Given the description of an element on the screen output the (x, y) to click on. 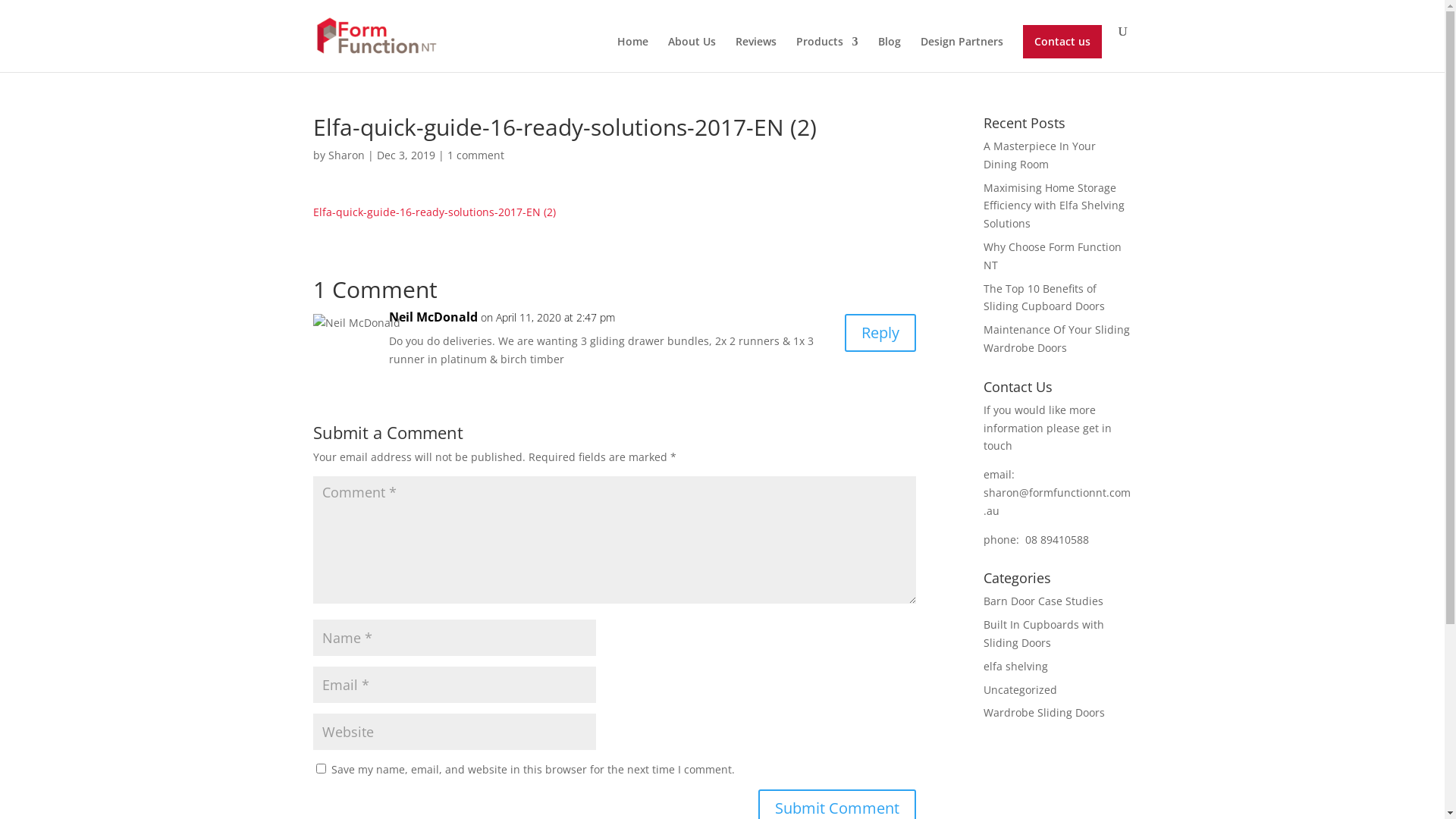
Reply Element type: text (880, 332)
Sharon Element type: text (345, 154)
sharon@formfunctionnt.com.au Element type: text (1056, 501)
The Top 10 Benefits of Sliding Cupboard Doors Element type: text (1043, 297)
Why Choose Form Function NT Element type: text (1052, 255)
Barn Door Case Studies Element type: text (1043, 600)
Home Element type: text (632, 54)
elfa shelving Element type: text (1015, 665)
Reviews Element type: text (755, 54)
Blog Element type: text (889, 54)
Products Element type: text (827, 54)
A Masterpiece In Your Dining Room Element type: text (1039, 154)
Maintenance Of Your Sliding Wardrobe Doors Element type: text (1056, 338)
Design Partners Element type: text (961, 54)
About Us Element type: text (691, 54)
Wardrobe Sliding Doors Element type: text (1043, 712)
Elfa-quick-guide-16-ready-solutions-2017-EN (2) Element type: text (433, 211)
Built In Cupboards with Sliding Doors Element type: text (1043, 633)
Uncategorized Element type: text (1020, 689)
1 comment Element type: text (475, 154)
Contact us Element type: text (1061, 41)
